Given the description of an element on the screen output the (x, y) to click on. 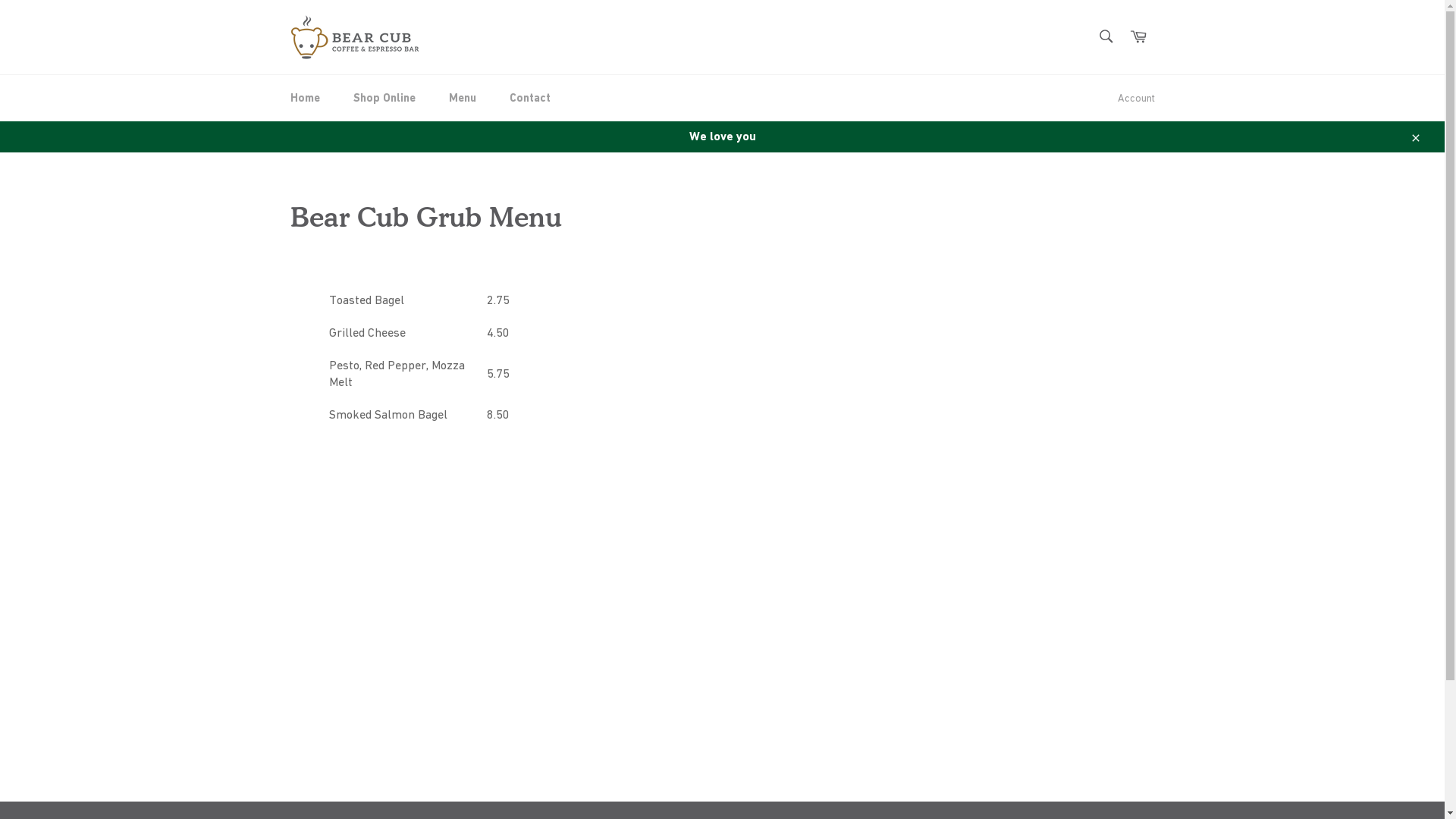
Home Element type: text (304, 98)
Account Element type: text (1136, 97)
Menu Element type: text (462, 98)
Close Element type: text (1414, 136)
Cart Element type: text (1138, 36)
Search Element type: text (1105, 35)
Shop Online Element type: text (384, 98)
Contact Element type: text (529, 98)
